Given the description of an element on the screen output the (x, y) to click on. 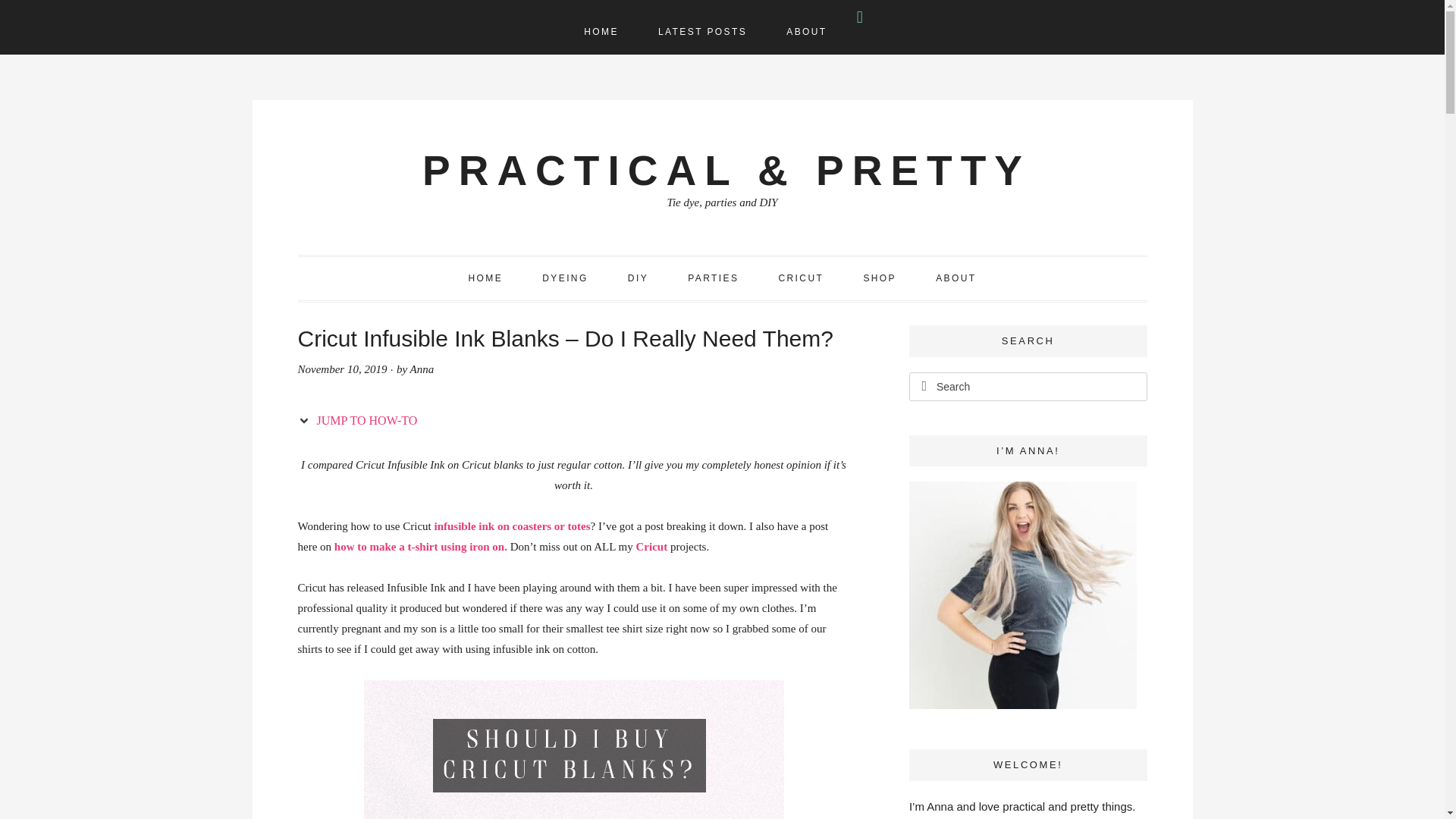
JUMP TO HOW-TO (361, 420)
DYEING (564, 279)
SHOP (879, 279)
ABOUT (806, 32)
infusible ink on coasters or totes (512, 526)
ABOUT (955, 279)
HOME (601, 32)
DIY (638, 279)
HOME (485, 279)
I'm Anna! (1022, 595)
Cricut (650, 546)
CRICUT (800, 279)
November 10, 2019 (342, 369)
how to make a t-shirt using iron on. (420, 546)
Anna (421, 369)
